Given the description of an element on the screen output the (x, y) to click on. 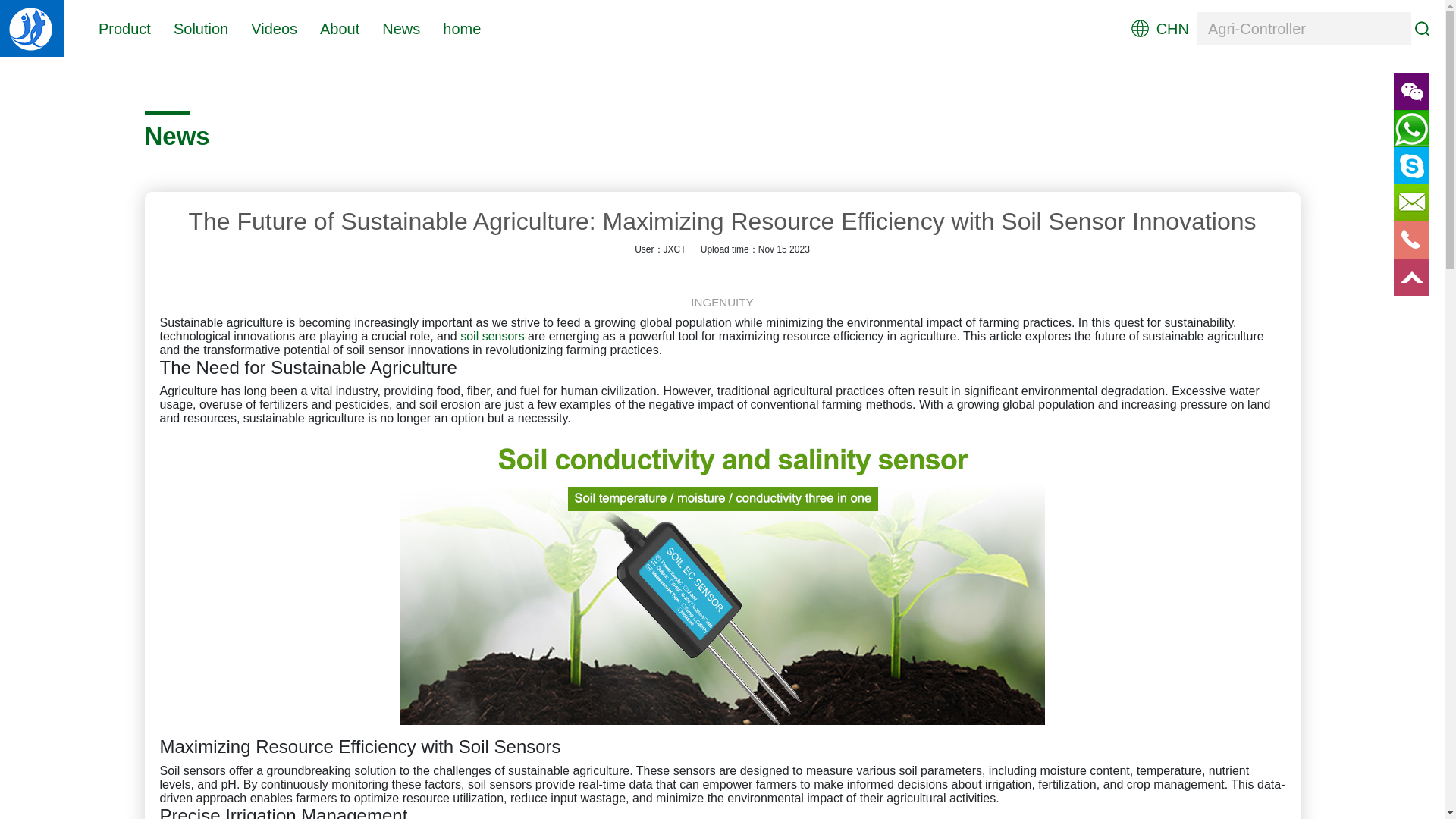
Agri-Controller (1303, 28)
Product (125, 27)
